Given the description of an element on the screen output the (x, y) to click on. 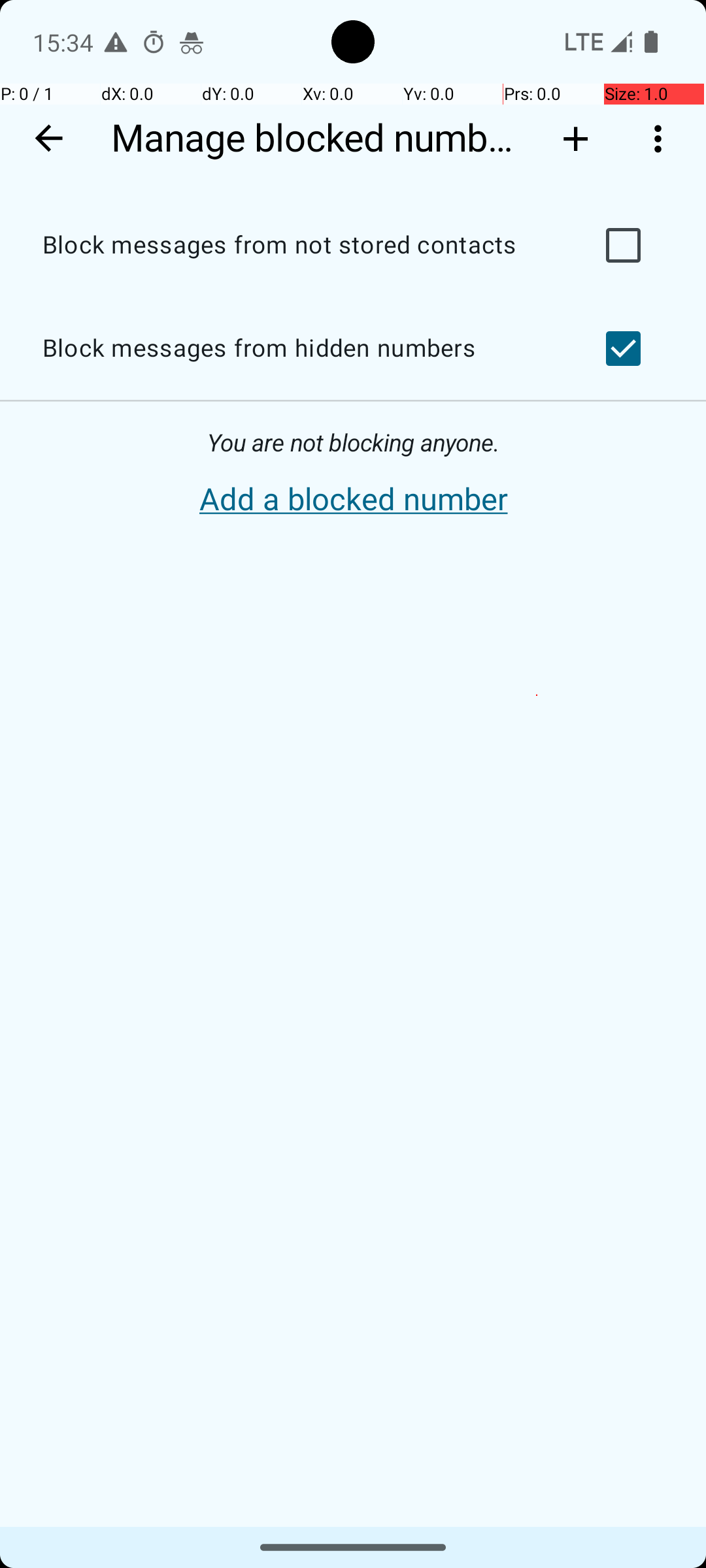
You are not blocking anyone. Element type: android.widget.TextView (352, 443)
Manage blocked numbers Element type: android.widget.TextView (318, 138)
Block messages from not stored contacts Element type: android.widget.TextView (297, 244)
Block messages from hidden numbers Element type: android.widget.TextView (297, 348)
Add a blocked number Element type: android.widget.TextView (352, 499)
